Given the description of an element on the screen output the (x, y) to click on. 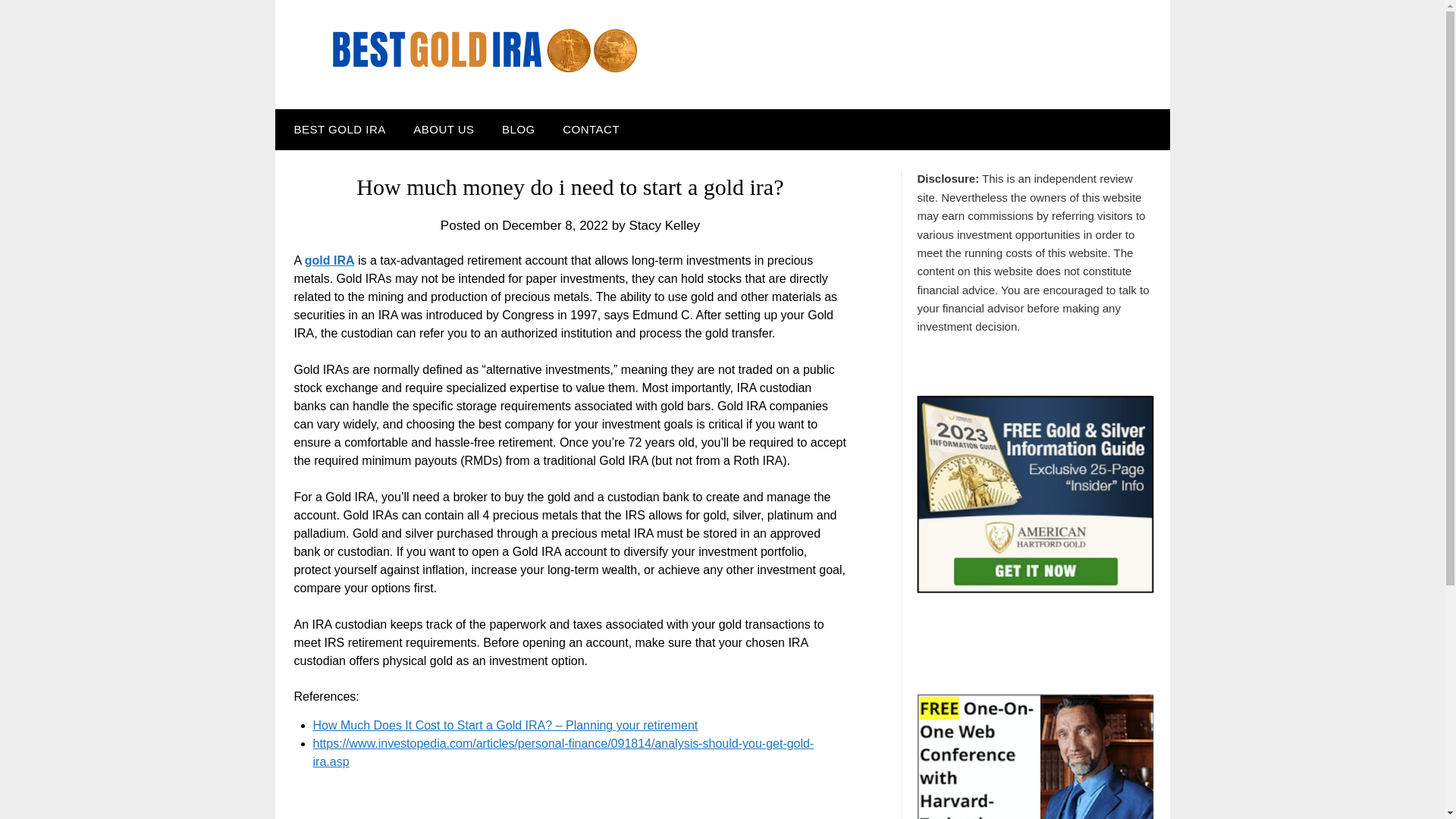
BLOG (518, 128)
December 8, 2022 (555, 225)
gold IRA (329, 259)
CONTACT (590, 128)
Stacy Kelley (664, 225)
ABOUT US (443, 128)
BEST GOLD IRA (336, 128)
